Given the description of an element on the screen output the (x, y) to click on. 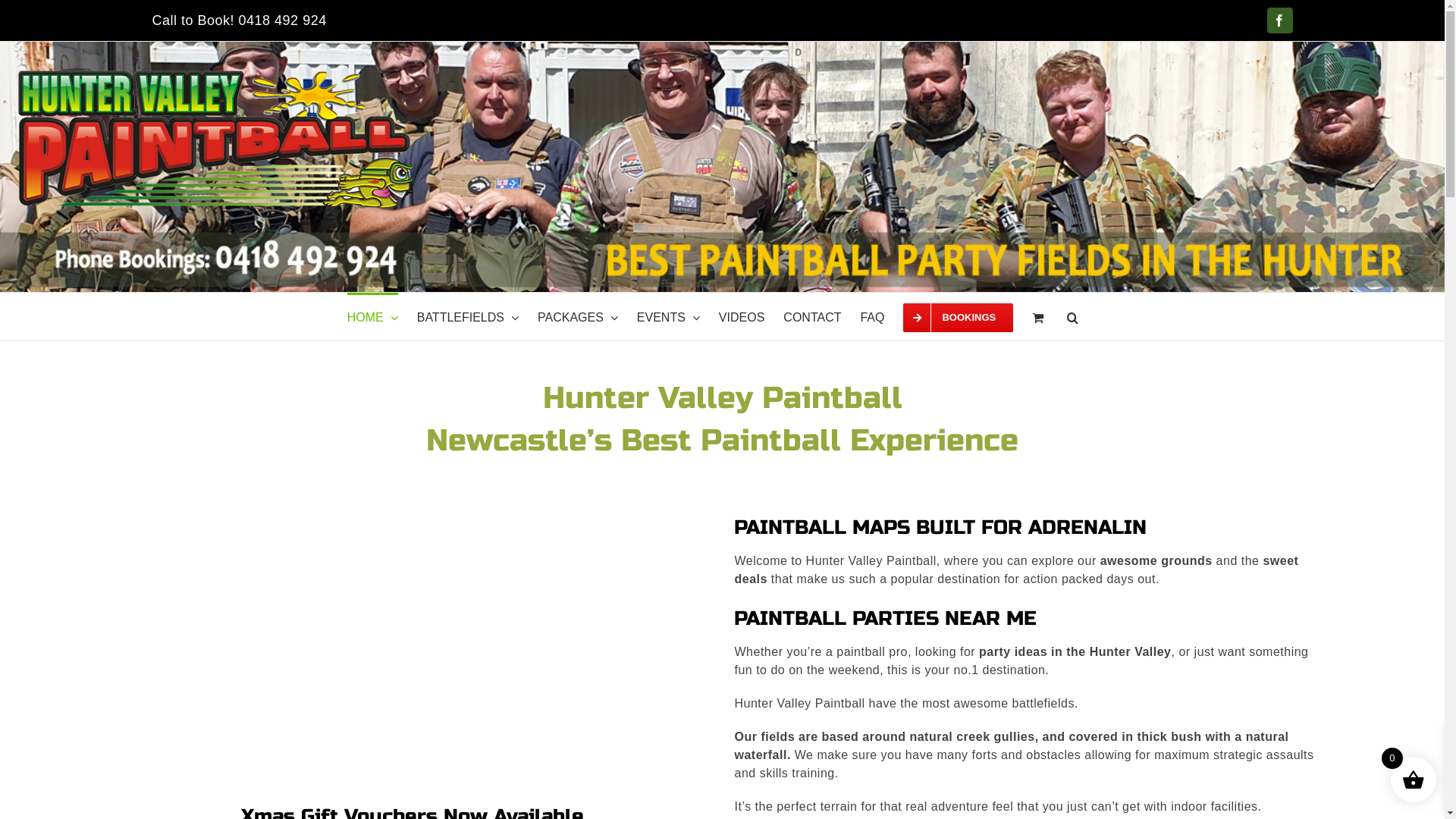
EVENTS Element type: text (668, 316)
Search Element type: hover (1072, 316)
BOOKINGS Element type: text (958, 316)
HOME Element type: text (372, 316)
PACKAGES Element type: text (577, 316)
Facebook Element type: text (1279, 20)
BATTLEFIELDS Element type: text (467, 316)
CONTACT Element type: text (811, 316)
FAQ Element type: text (871, 316)
VIDEOS Element type: text (741, 316)
